Given the description of an element on the screen output the (x, y) to click on. 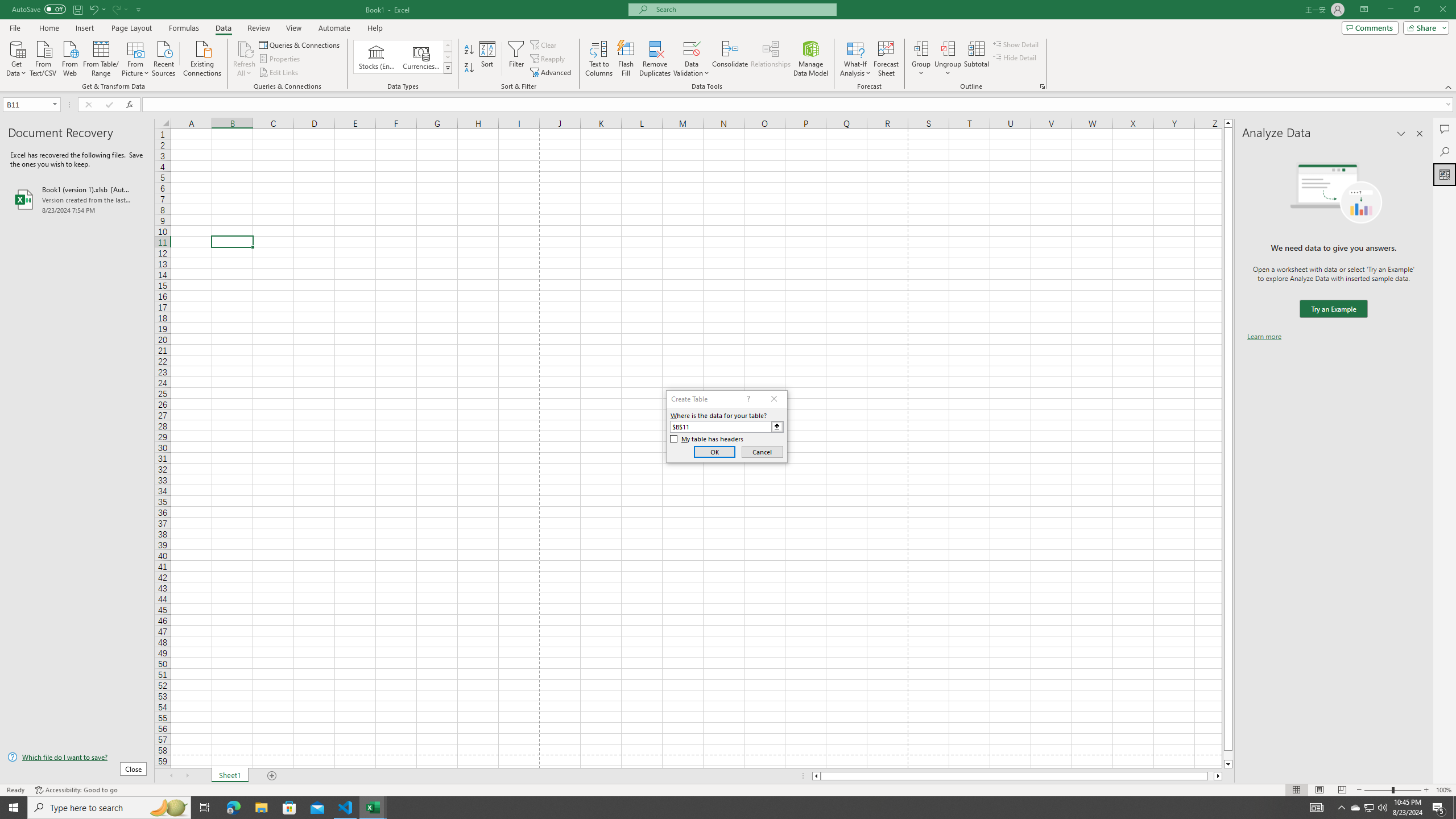
Properties (280, 58)
Clear (544, 44)
Data Types (448, 67)
Hide Detail (1014, 56)
Advanced... (551, 72)
Stocks (English) (375, 56)
Search (1444, 151)
